Given the description of an element on the screen output the (x, y) to click on. 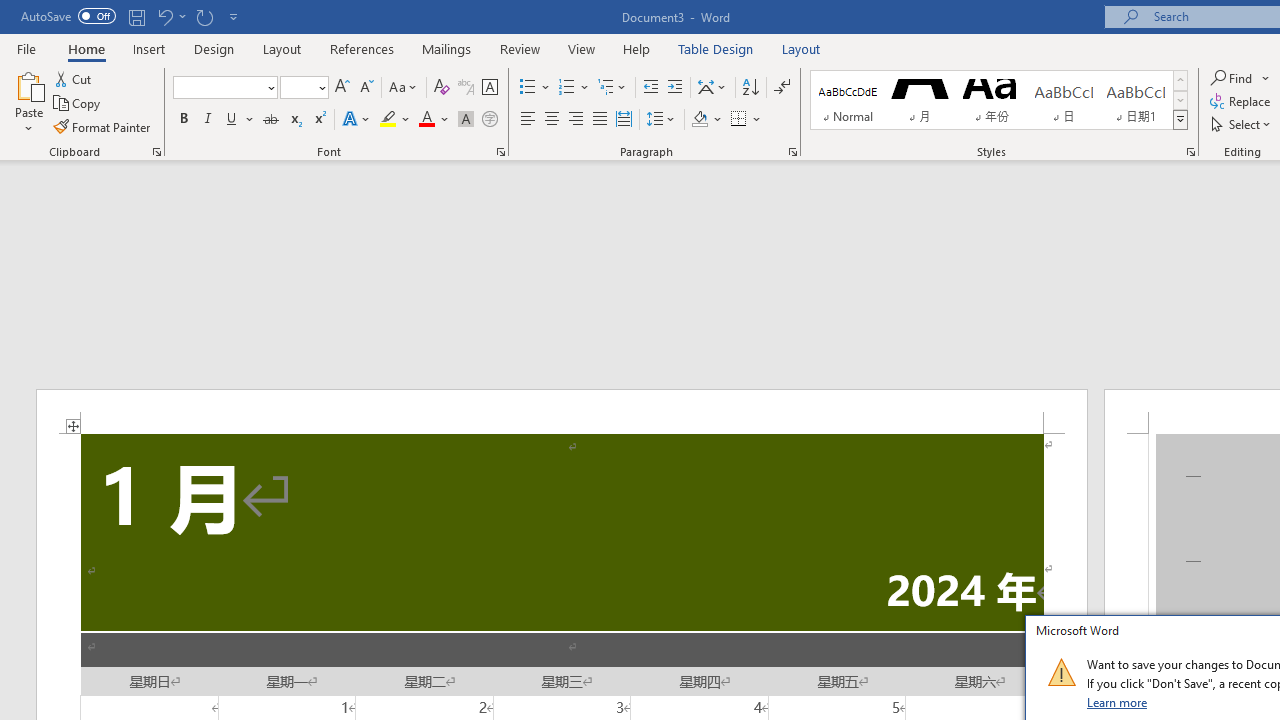
Superscript (319, 119)
Repeat Doc Close (204, 15)
Line and Paragraph Spacing (661, 119)
References (362, 48)
Home (86, 48)
Save (136, 15)
Insert (149, 48)
Font... (500, 151)
Bold (183, 119)
Styles... (1190, 151)
Table Design (715, 48)
Find (1240, 78)
Shading (706, 119)
